Given the description of an element on the screen output the (x, y) to click on. 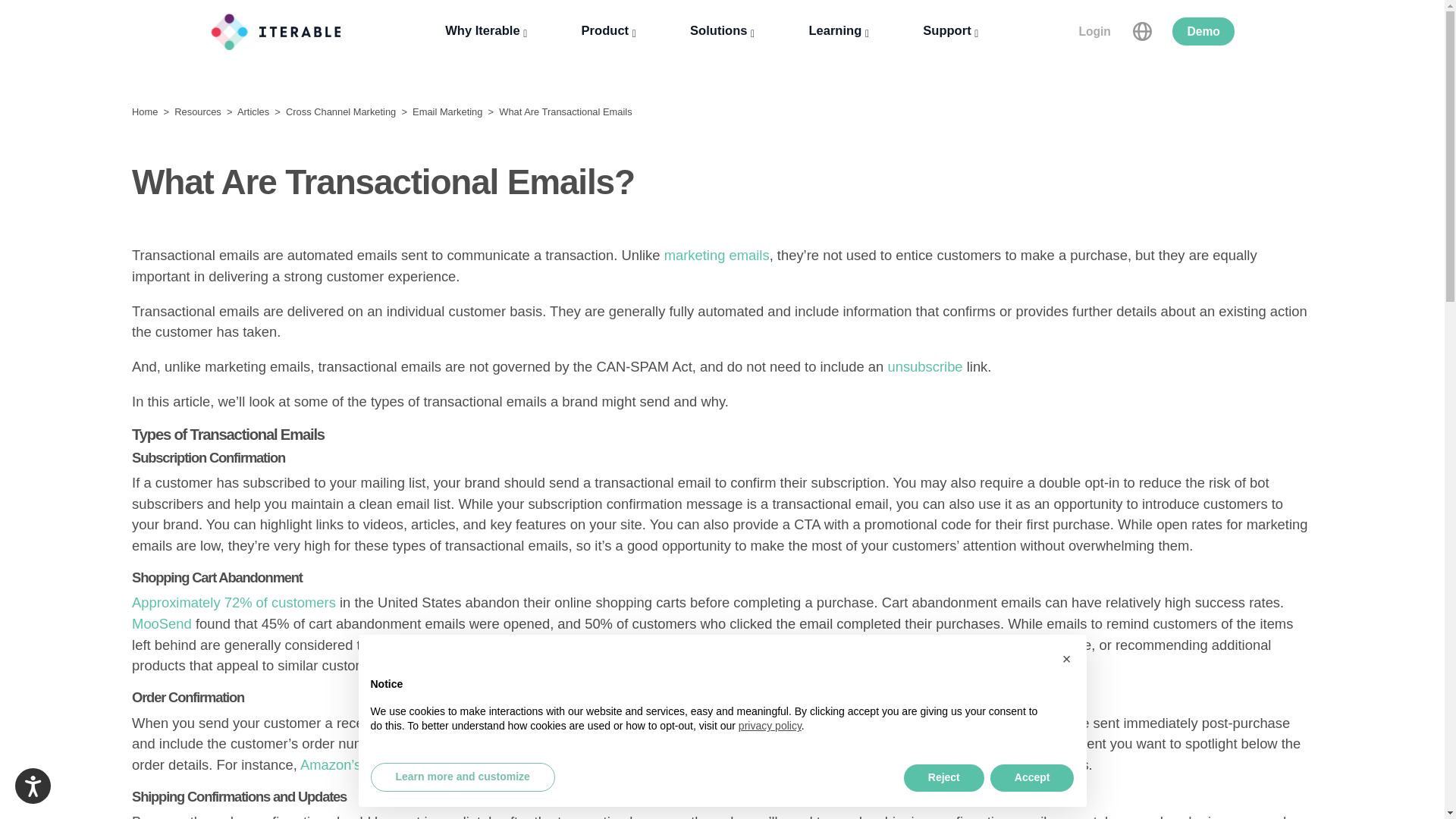
Open Accessibility Menu (32, 785)
Opens in a new tab (234, 602)
EquallyAI Widget Activation Icon (32, 785)
Opens in a new tab (924, 366)
Opens in a new tab (162, 623)
Opens in a new tab (485, 31)
Opens in a new tab (722, 31)
Opens in a new tab (577, 665)
Opens in a new tab (716, 254)
